Given the description of an element on the screen output the (x, y) to click on. 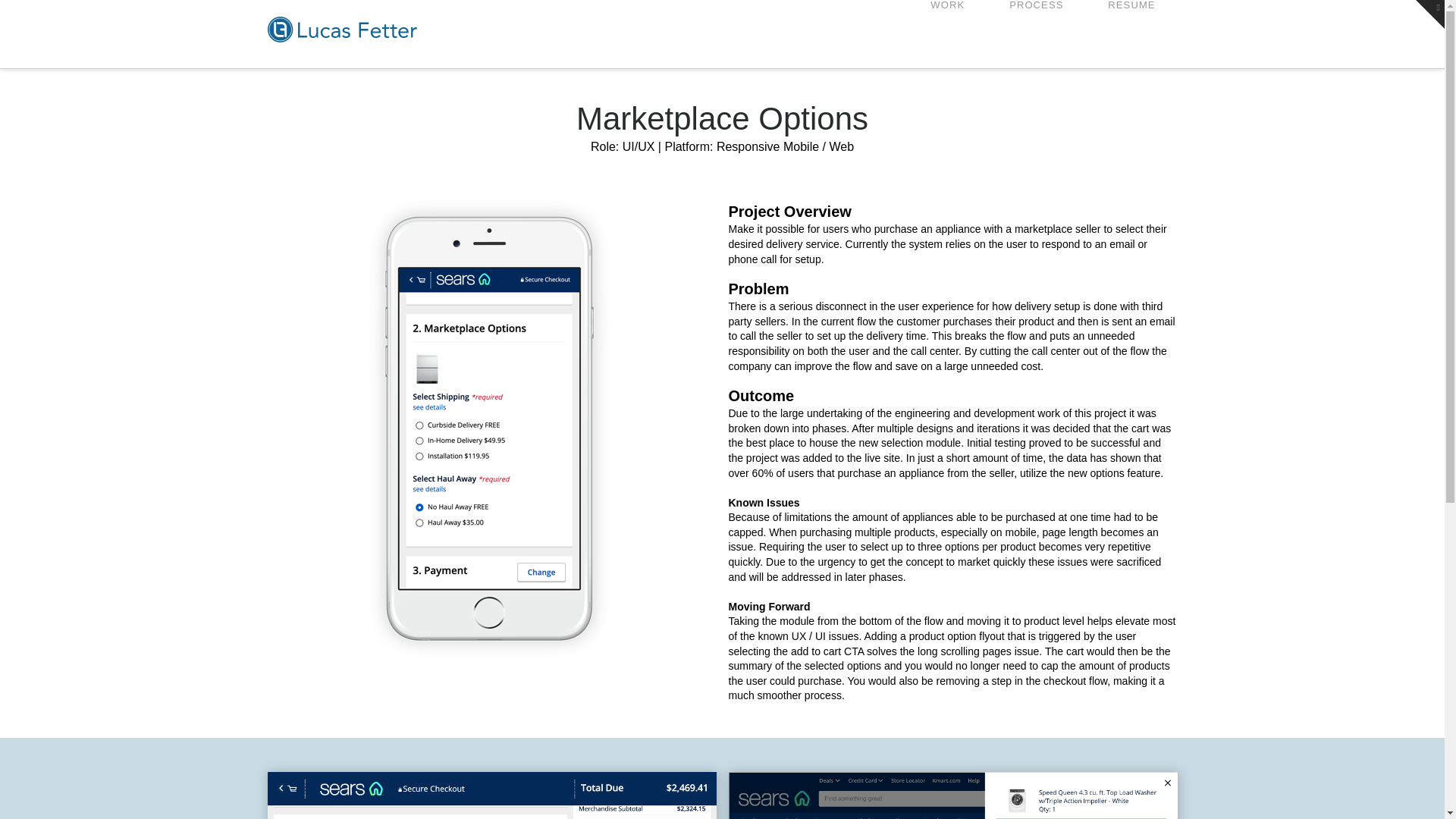
WORK (947, 33)
PROCESS (1035, 33)
RESUME (1130, 33)
